Given the description of an element on the screen output the (x, y) to click on. 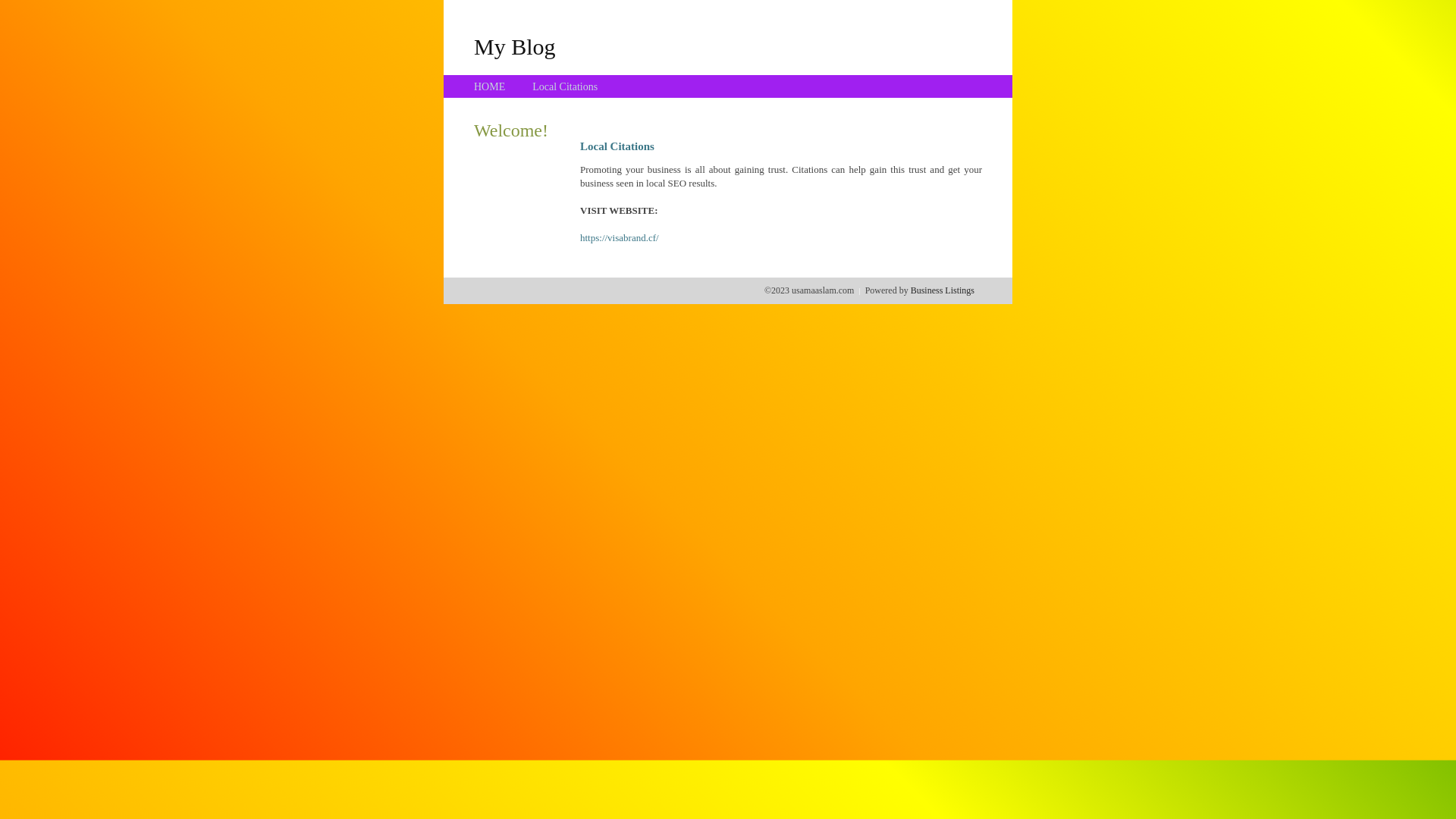
https://visabrand.cf/ Element type: text (619, 237)
HOME Element type: text (489, 86)
Business Listings Element type: text (942, 290)
My Blog Element type: text (514, 46)
Local Citations Element type: text (564, 86)
